Given the description of an element on the screen output the (x, y) to click on. 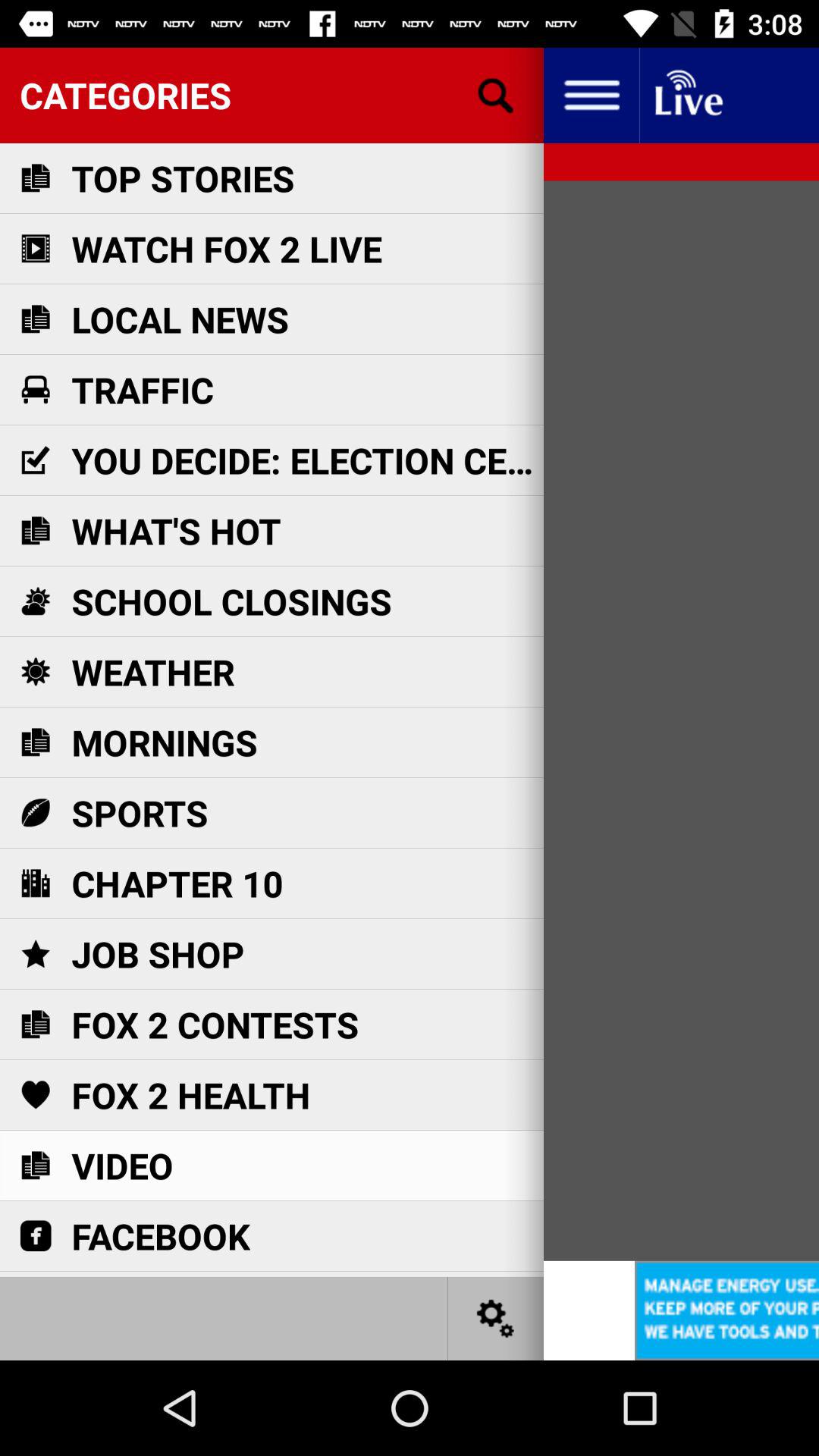
important to know (687, 95)
